Given the description of an element on the screen output the (x, y) to click on. 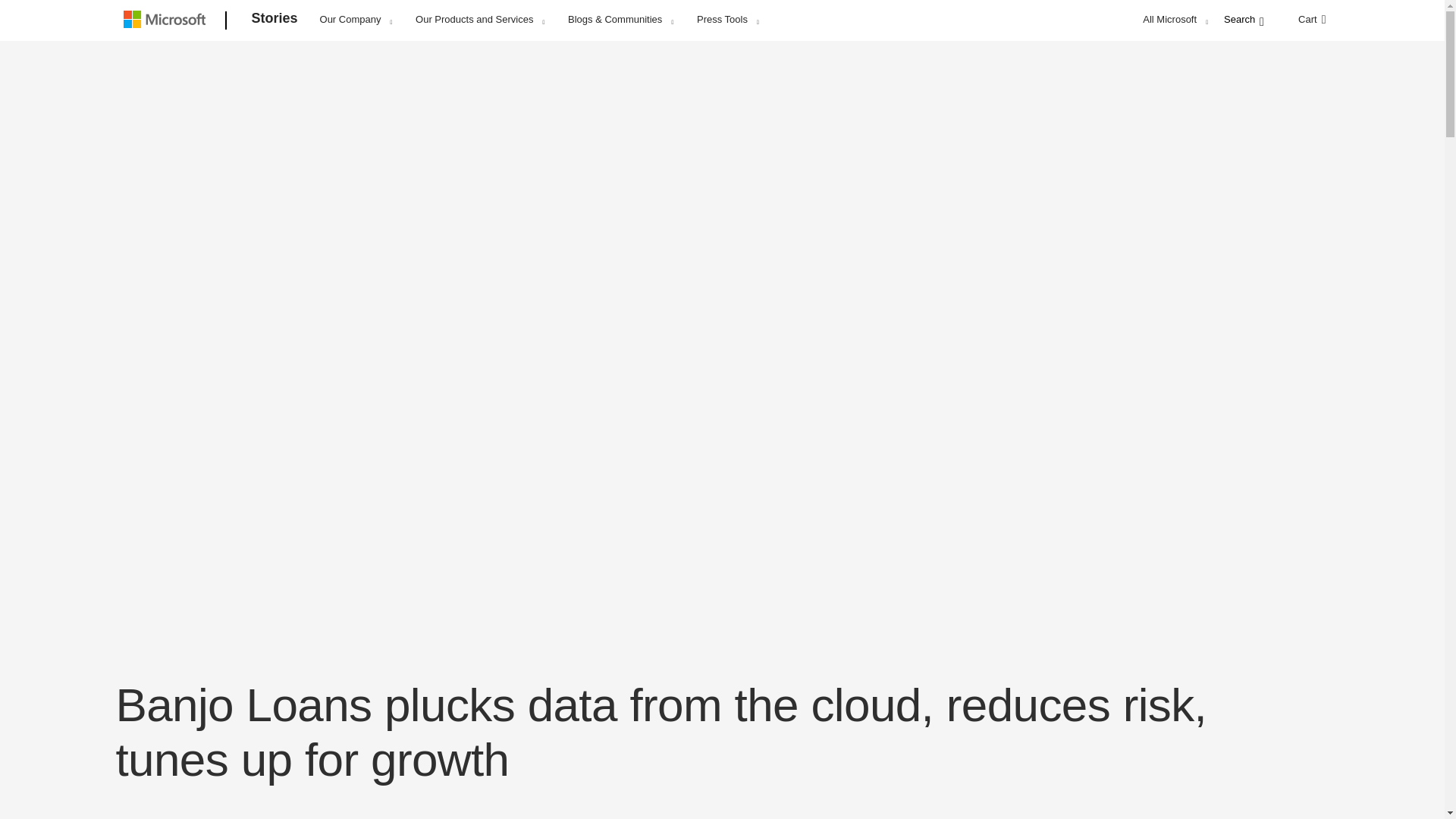
Our Products and Services (479, 18)
Our Company (355, 18)
Stories (274, 20)
Microsoft (167, 20)
